Given the description of an element on the screen output the (x, y) to click on. 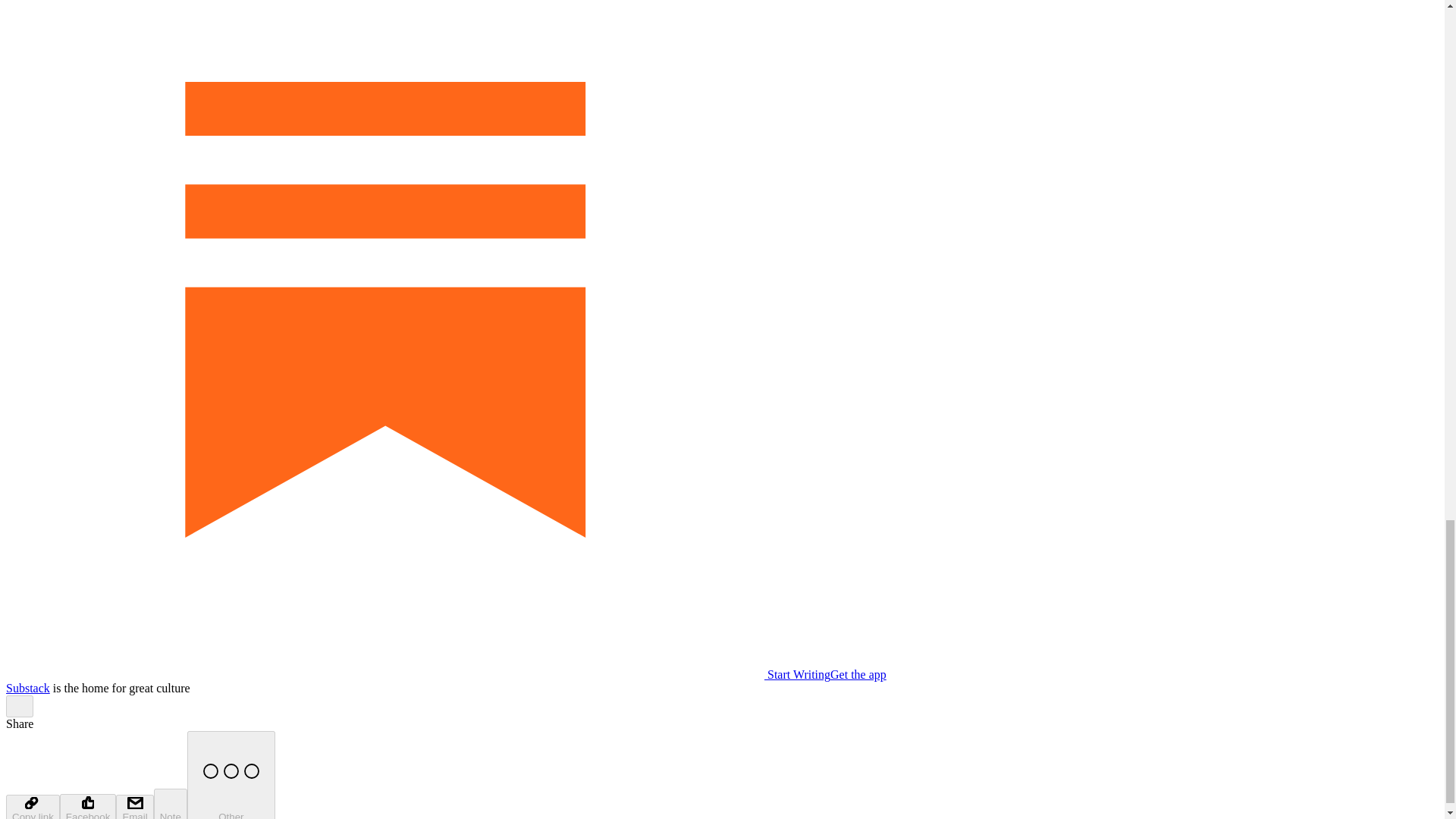
Start Writing (417, 674)
Substack (27, 687)
Get the app (857, 674)
